Given the description of an element on the screen output the (x, y) to click on. 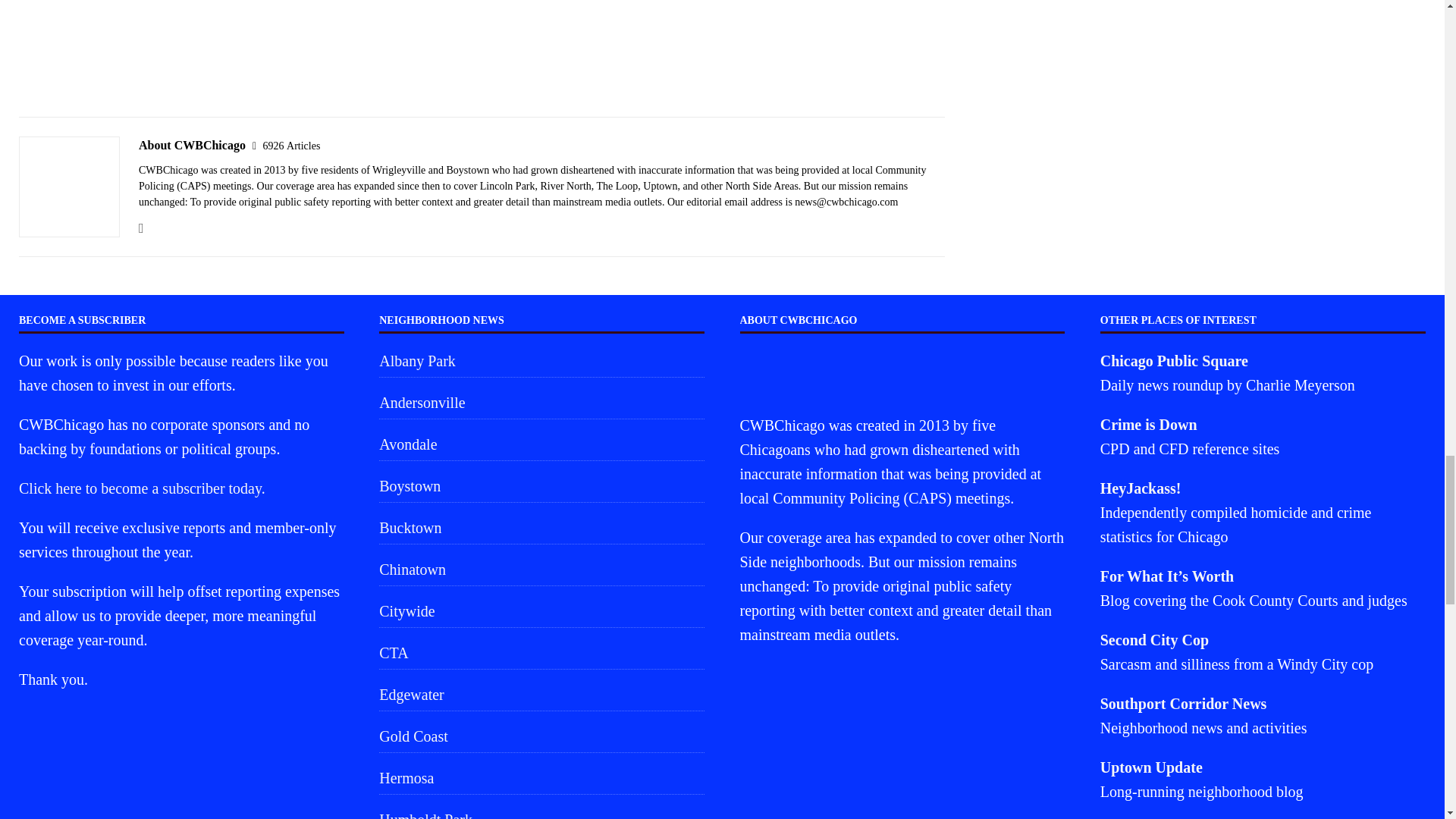
Avondale (541, 444)
Chinatown (541, 569)
Bucktown (541, 527)
Boystown (541, 486)
Click here to become a subscriber today. (141, 487)
Citywide (541, 611)
Andersonville (541, 402)
Albany Park (541, 362)
CTA (541, 653)
Edgewater (541, 694)
More articles written by CWBChicago' (291, 145)
6926 Articles (291, 145)
